Given the description of an element on the screen output the (x, y) to click on. 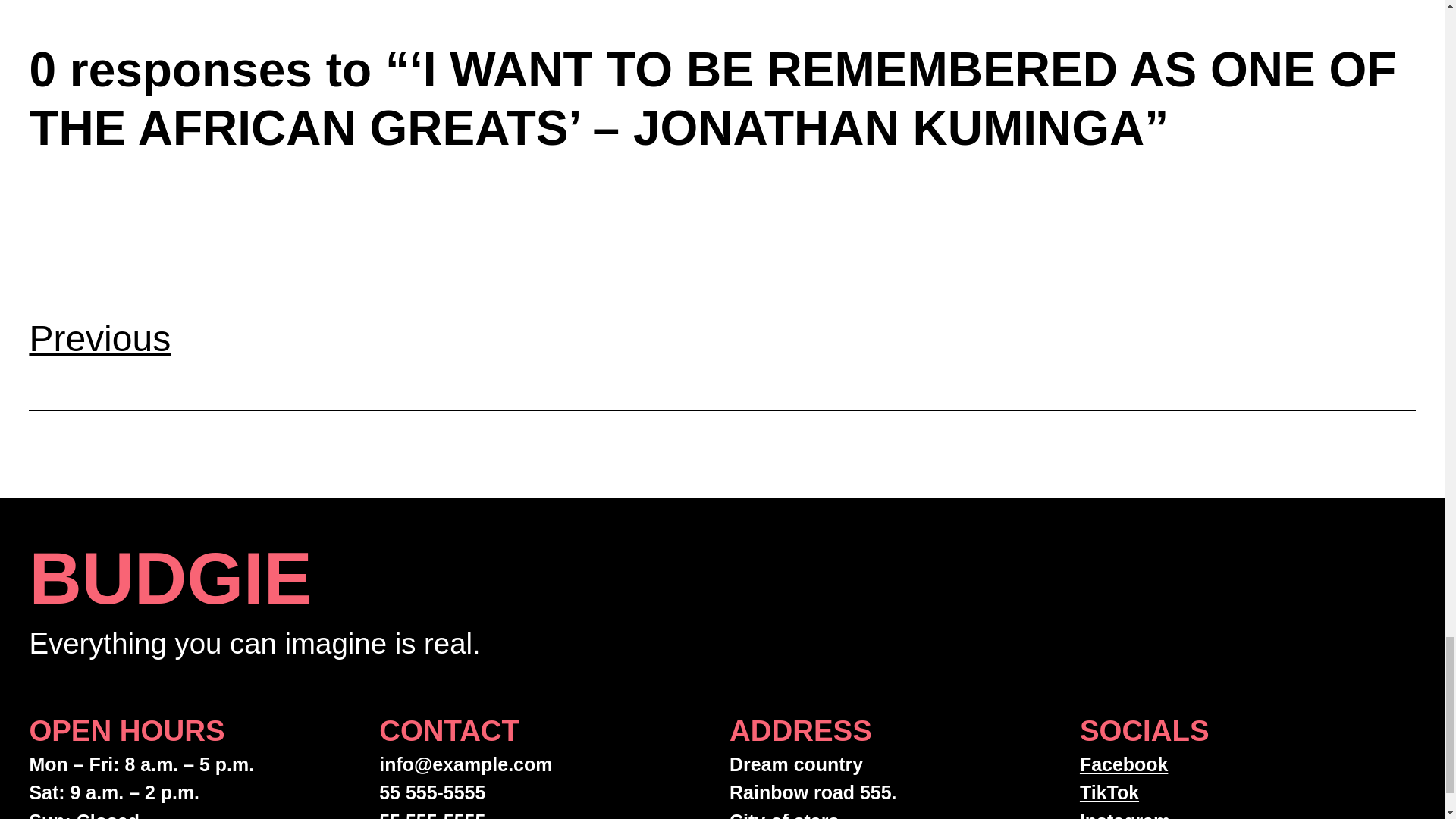
TikTok (1109, 792)
Instagram (1125, 814)
Previous (99, 338)
Facebook (1123, 763)
